Given the description of an element on the screen output the (x, y) to click on. 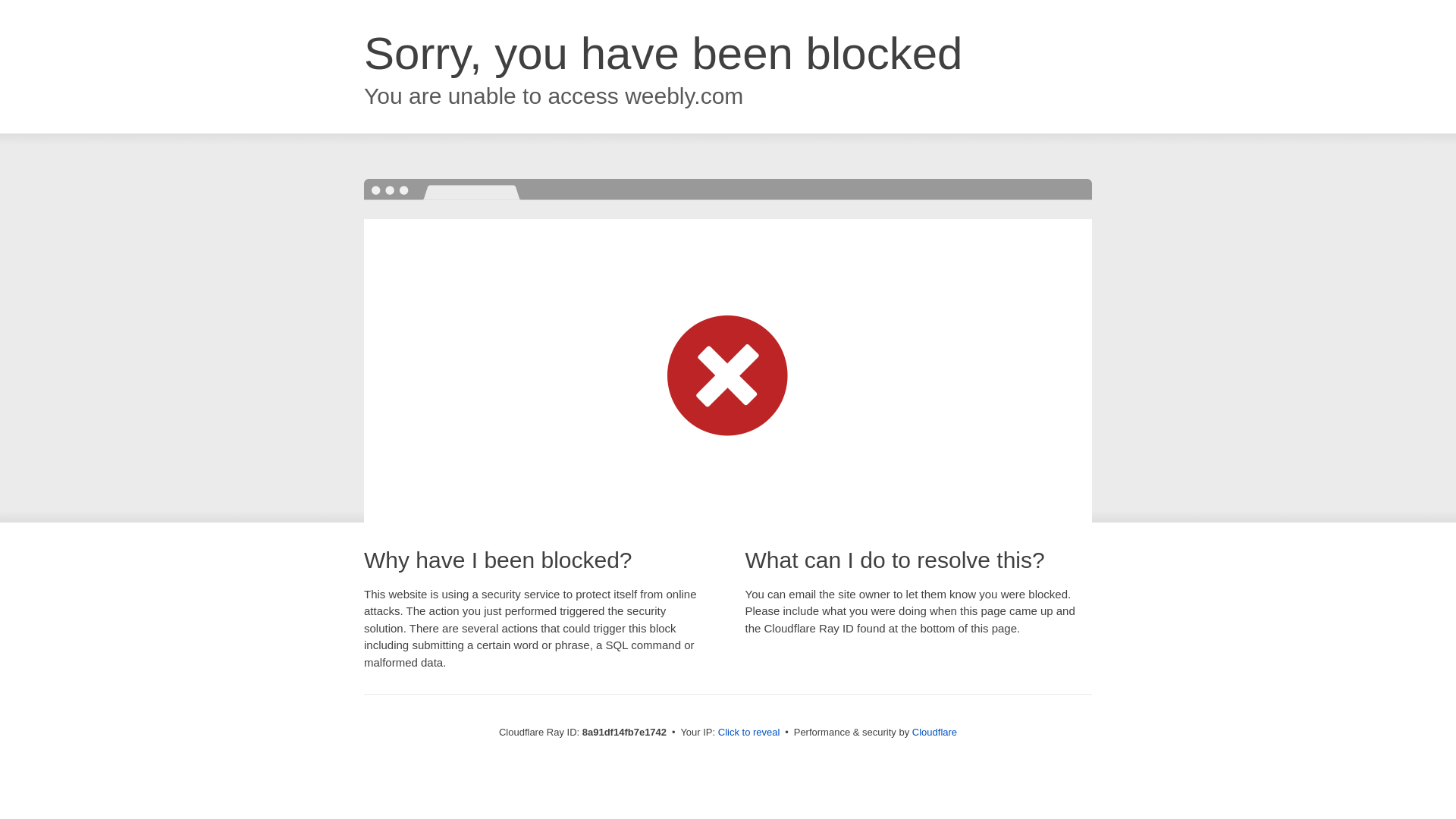
Cloudflare (934, 731)
Click to reveal (748, 732)
